Given the description of an element on the screen output the (x, y) to click on. 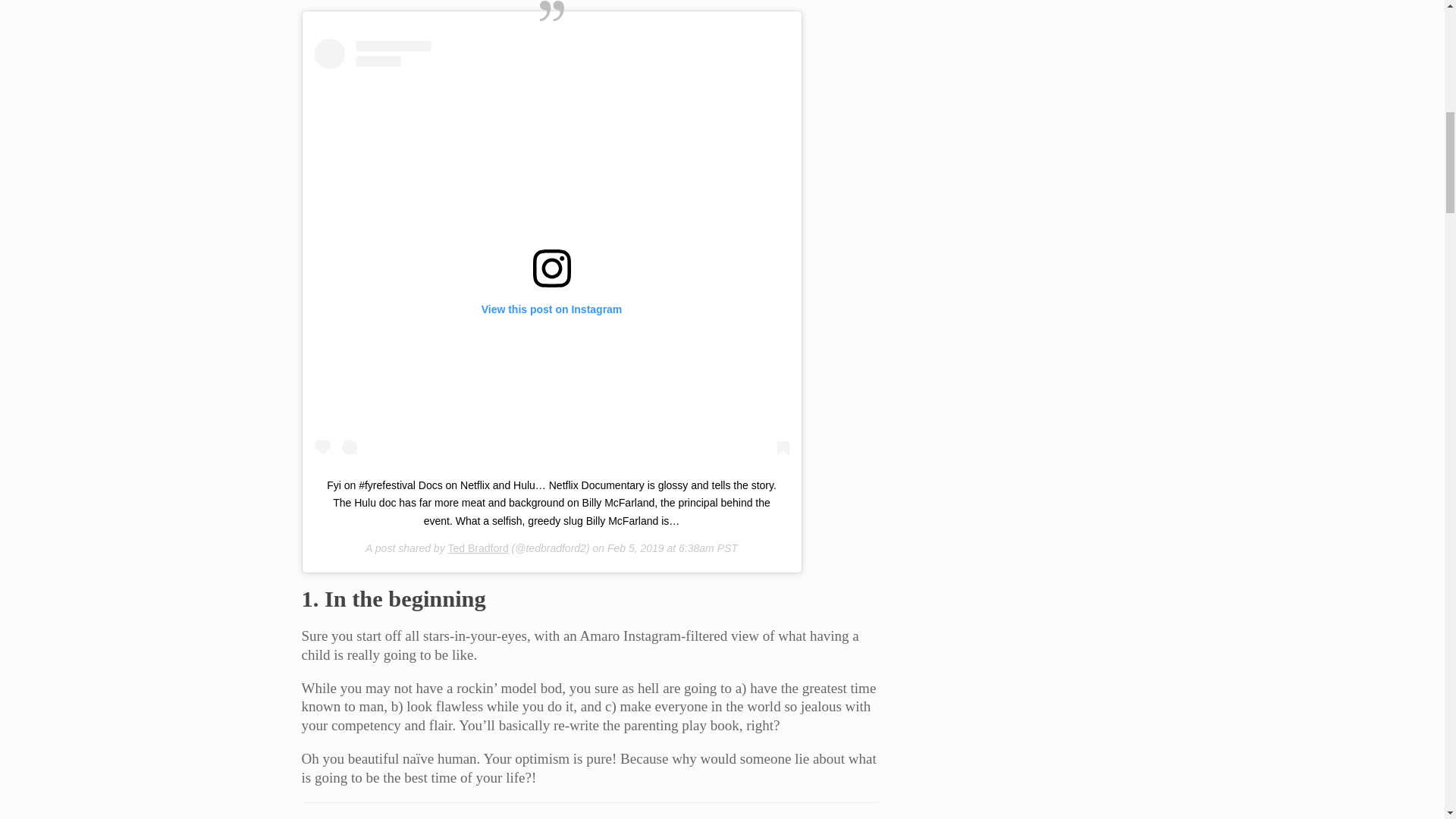
Ted Bradford (478, 548)
